Given the description of an element on the screen output the (x, y) to click on. 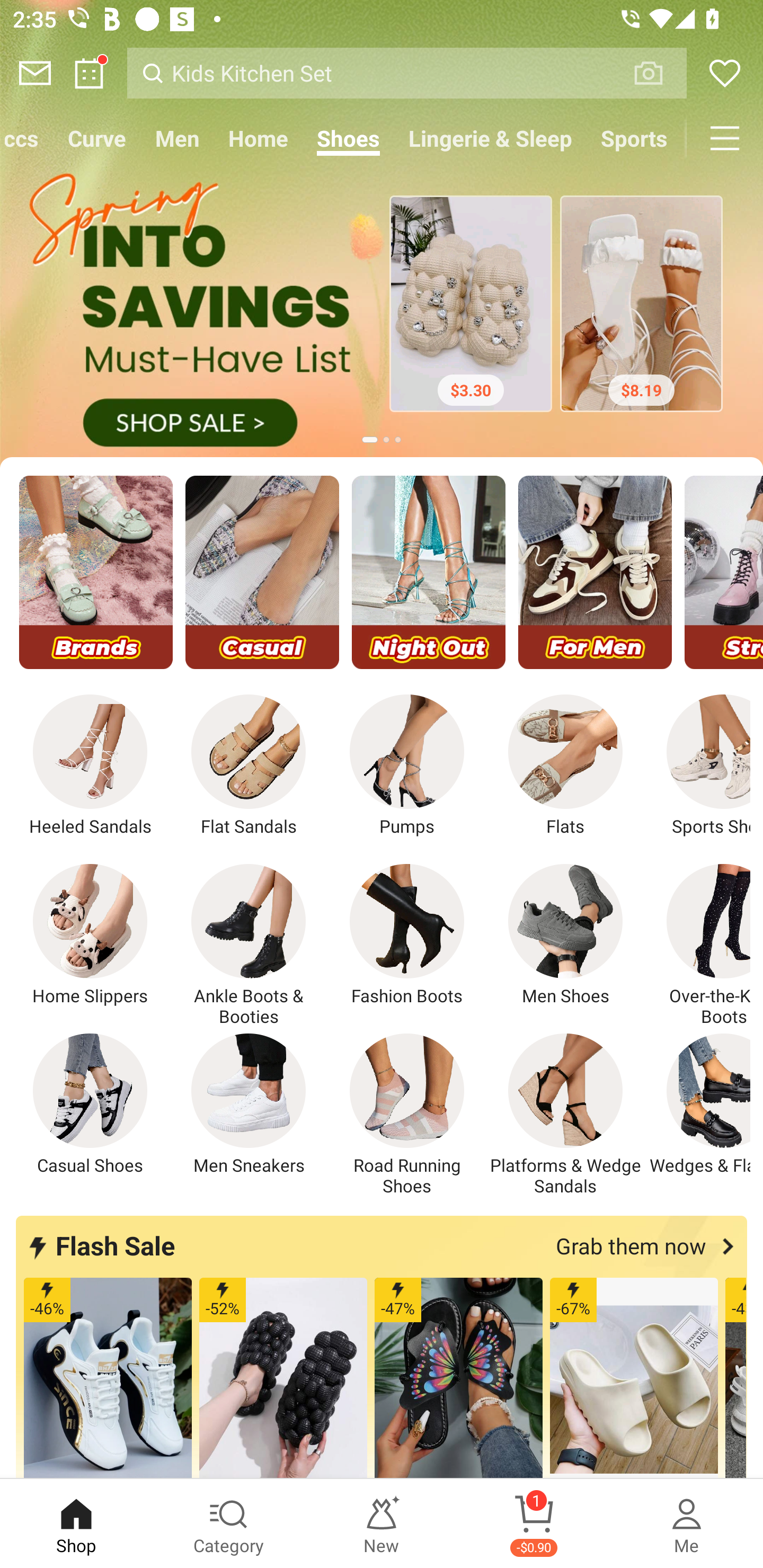
Wishlist (724, 72)
VISUAL SEARCH (657, 72)
Jewelry & Accs (26, 137)
Curve (97, 137)
Men (177, 137)
Home (258, 137)
Shoes (348, 137)
Lingerie & Sleep (490, 137)
Sports (634, 137)
$3.30 $8.19 (381, 307)
Heeled Sandals (89, 765)
Flat Sandals (248, 765)
Pumps (406, 765)
Flats (565, 765)
Sports Shoes (698, 765)
Home Slippers (89, 934)
Ankle Boots & Booties (248, 945)
Fashion Boots (406, 934)
Men Shoes (565, 934)
Over-the-Knee Boots (698, 945)
Casual Shoes (89, 1104)
Men Sneakers (248, 1104)
Road Running Shoes (406, 1114)
Platforms & Wedge Sandals (565, 1114)
Wedges & Flatform (698, 1104)
Category (228, 1523)
New (381, 1523)
Cart 1 -$0.90 (533, 1523)
Me (686, 1523)
